Given the description of an element on the screen output the (x, y) to click on. 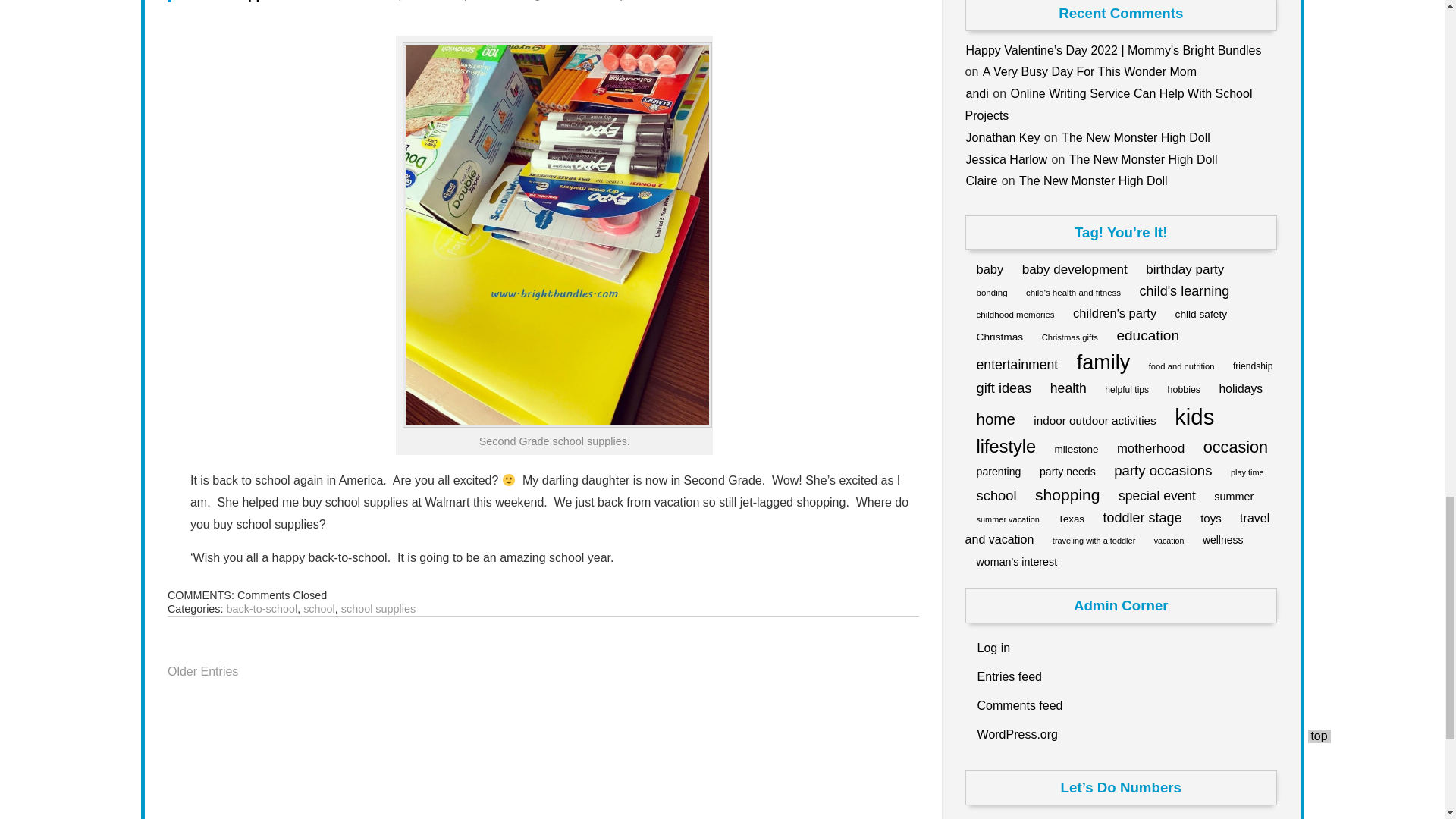
Older Entries (202, 671)
back-to-school (262, 607)
school supplies (377, 607)
school (318, 607)
